Given the description of an element on the screen output the (x, y) to click on. 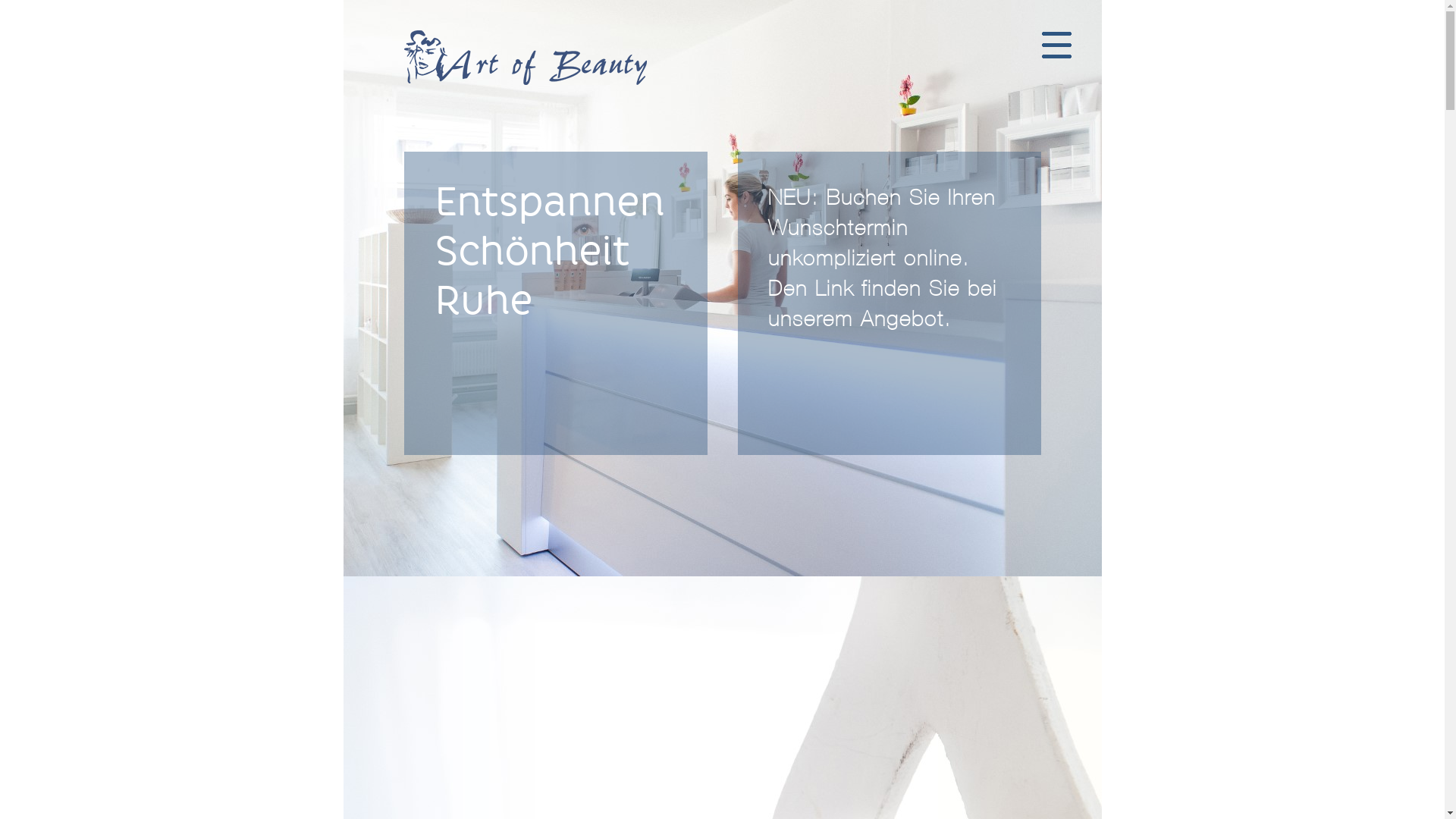
Menu Element type: text (1056, 44)
